Given the description of an element on the screen output the (x, y) to click on. 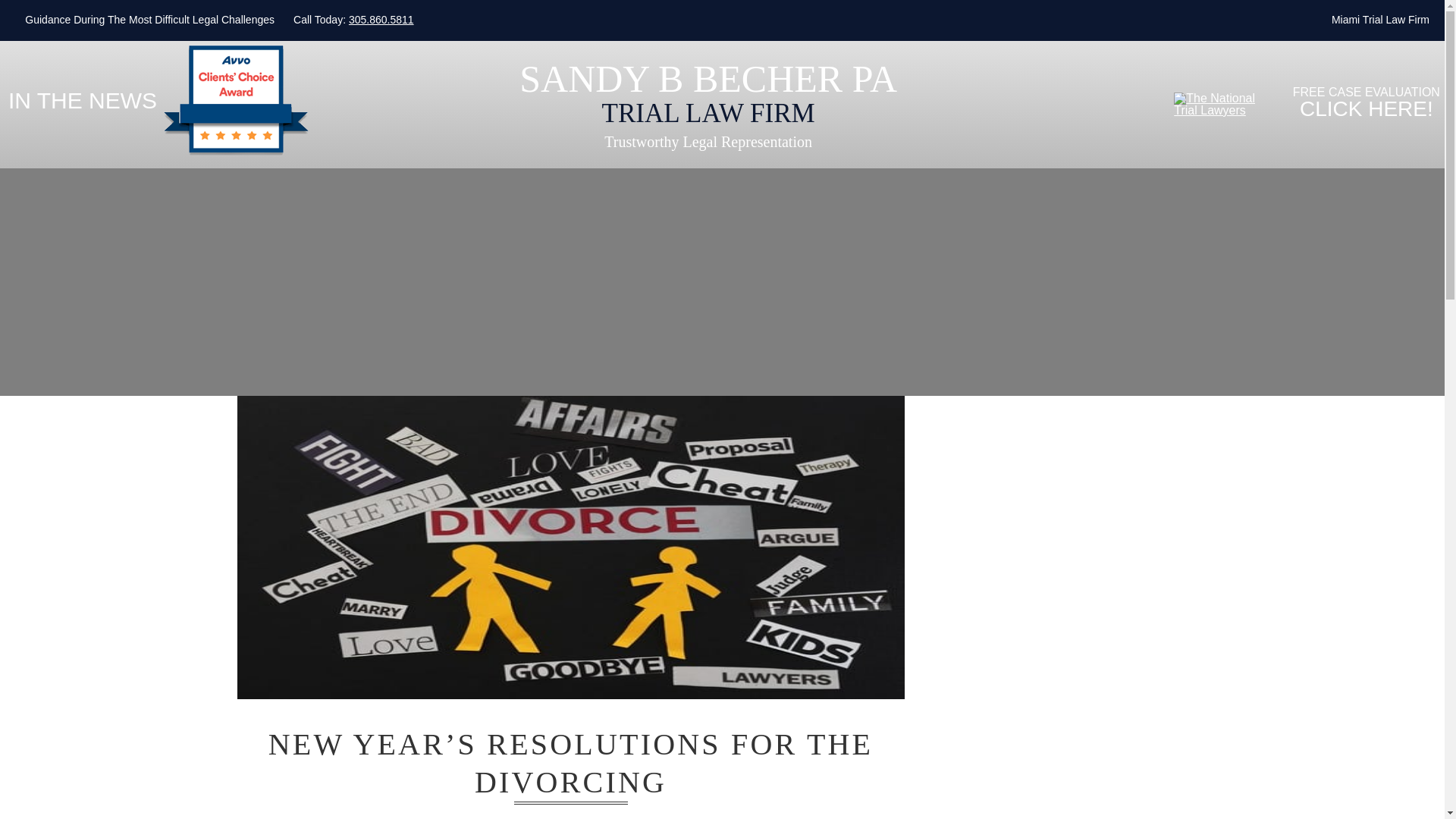
IN THE NEWS (82, 101)
Send (722, 506)
305.860.5811 (381, 19)
